Given the description of an element on the screen output the (x, y) to click on. 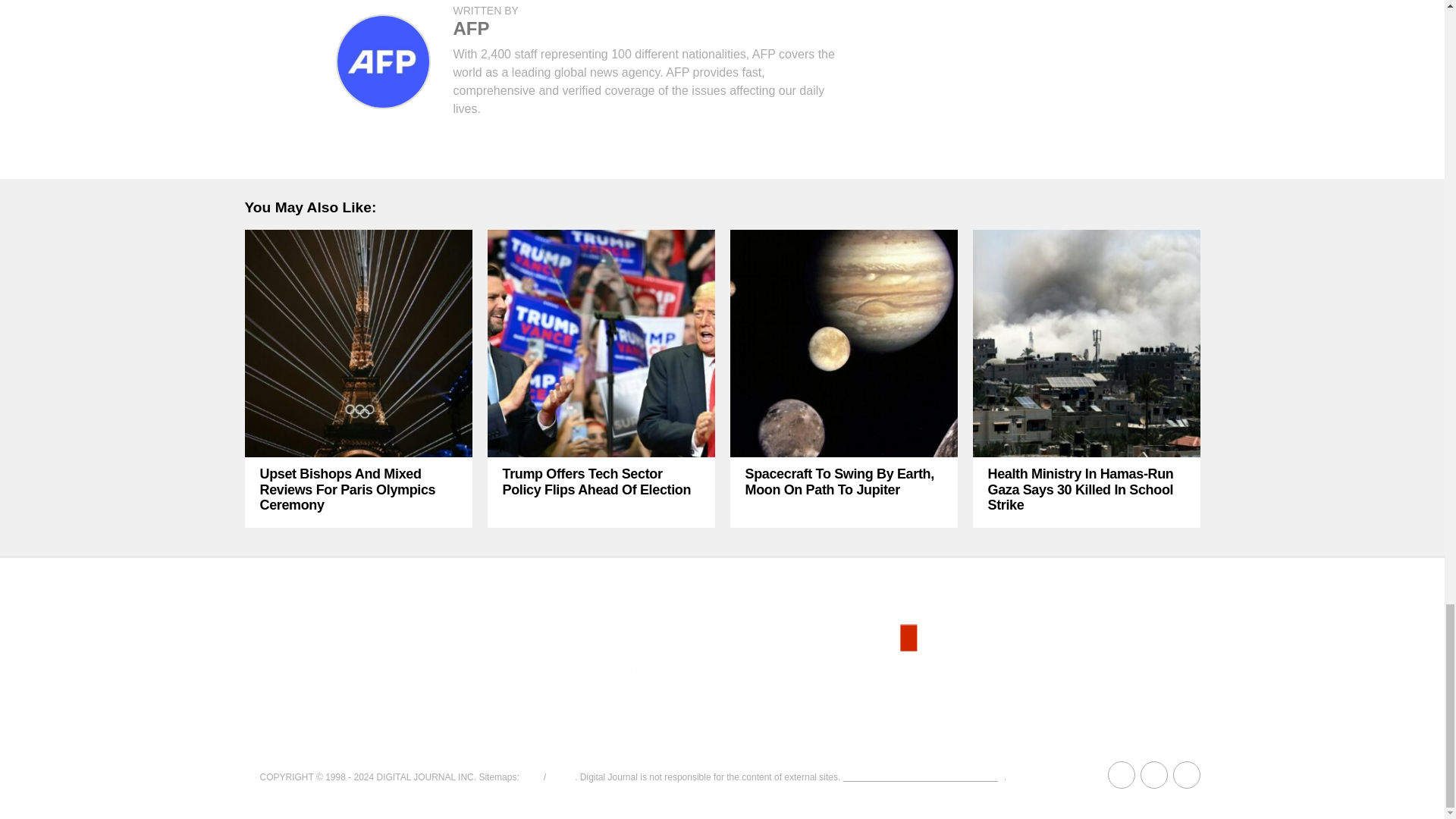
Posts by AFP (470, 28)
